Given the description of an element on the screen output the (x, y) to click on. 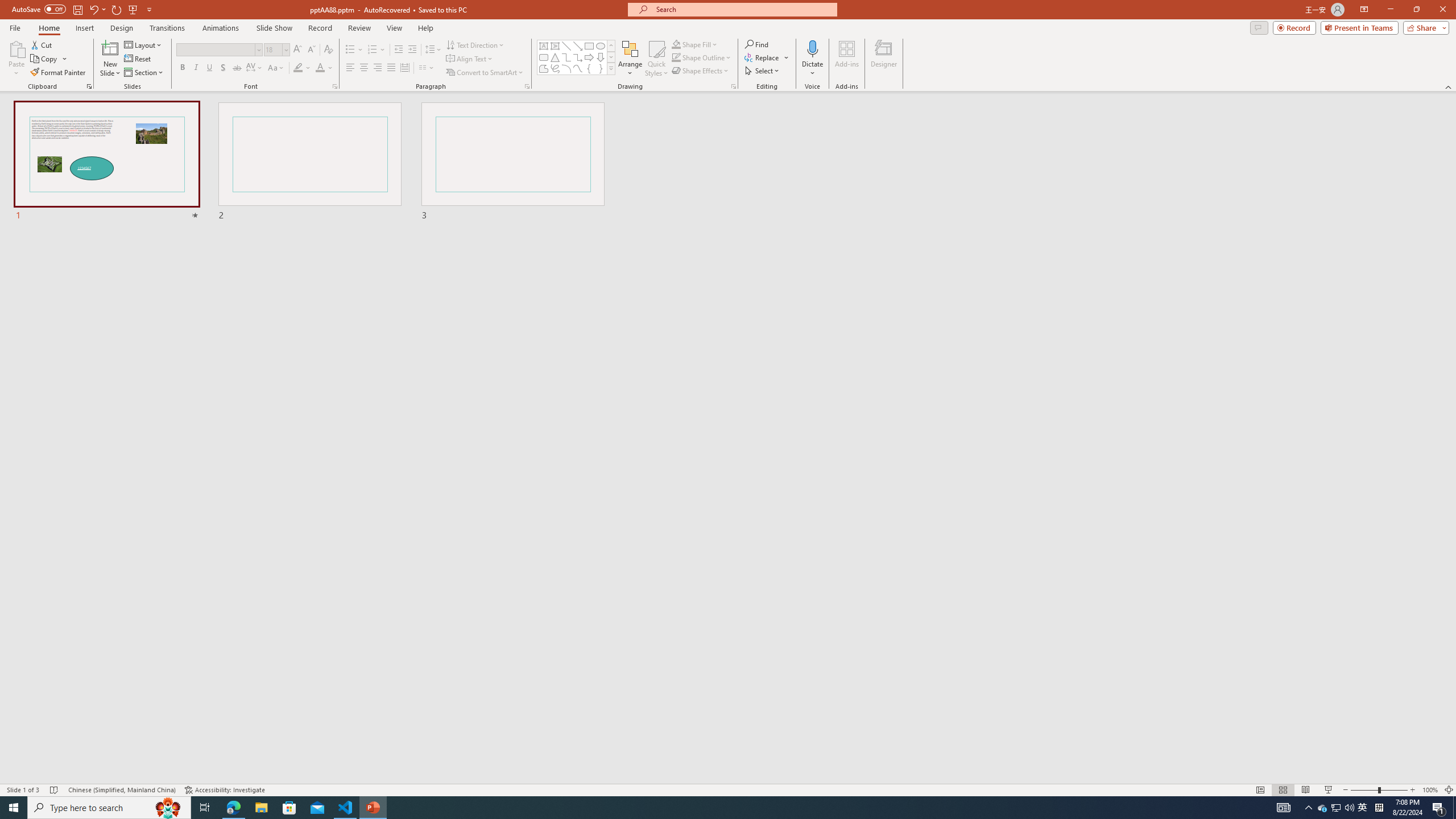
Align Text (470, 58)
New Slide (110, 58)
Shadow (223, 67)
Row up (611, 45)
Columns (426, 67)
Isosceles Triangle (554, 57)
Arrange (630, 58)
Restore Down (1416, 9)
Align Right (377, 67)
Font (215, 49)
